Given the description of an element on the screen output the (x, y) to click on. 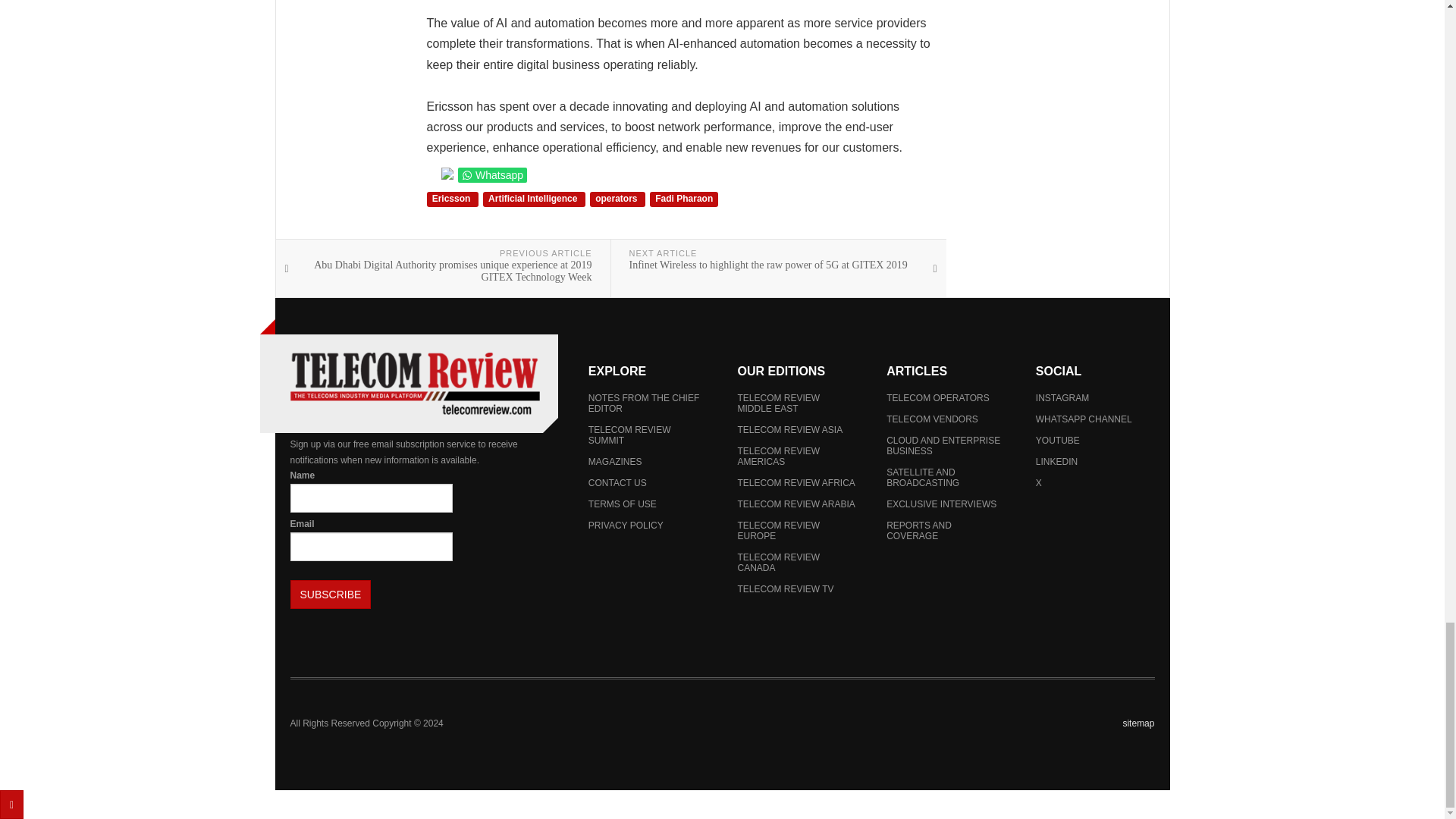
Telecom Review (413, 383)
Subscribe (330, 594)
